Given the description of an element on the screen output the (x, y) to click on. 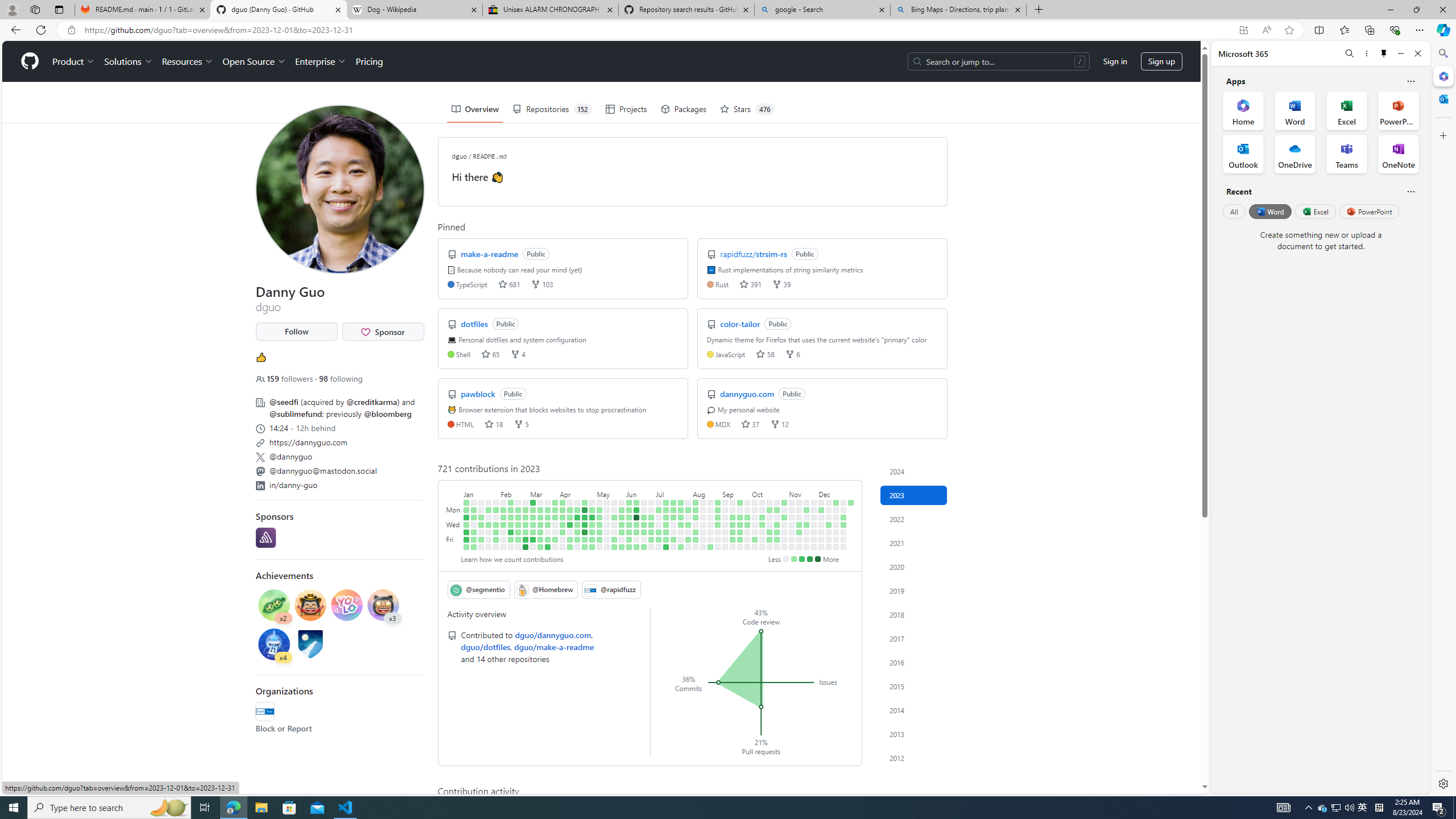
5 contributions on June 30th. (651, 539)
App available. Install GitHub (1243, 29)
2024 (913, 471)
No contributions on December 12th. (828, 517)
No contributions on June 19th. (643, 509)
2 contributions on October 10th. (761, 517)
No contributions on October 14th. (761, 546)
dguo/dotfiles (485, 646)
2 contributions on July 26th. (681, 524)
forks 4 (517, 353)
No contributions on February 4th. (496, 546)
@sublimefund (295, 413)
1 contribution on November 15th. (799, 524)
forks 6 (792, 353)
3 contributions on June 7th. (628, 524)
